Given the description of an element on the screen output the (x, y) to click on. 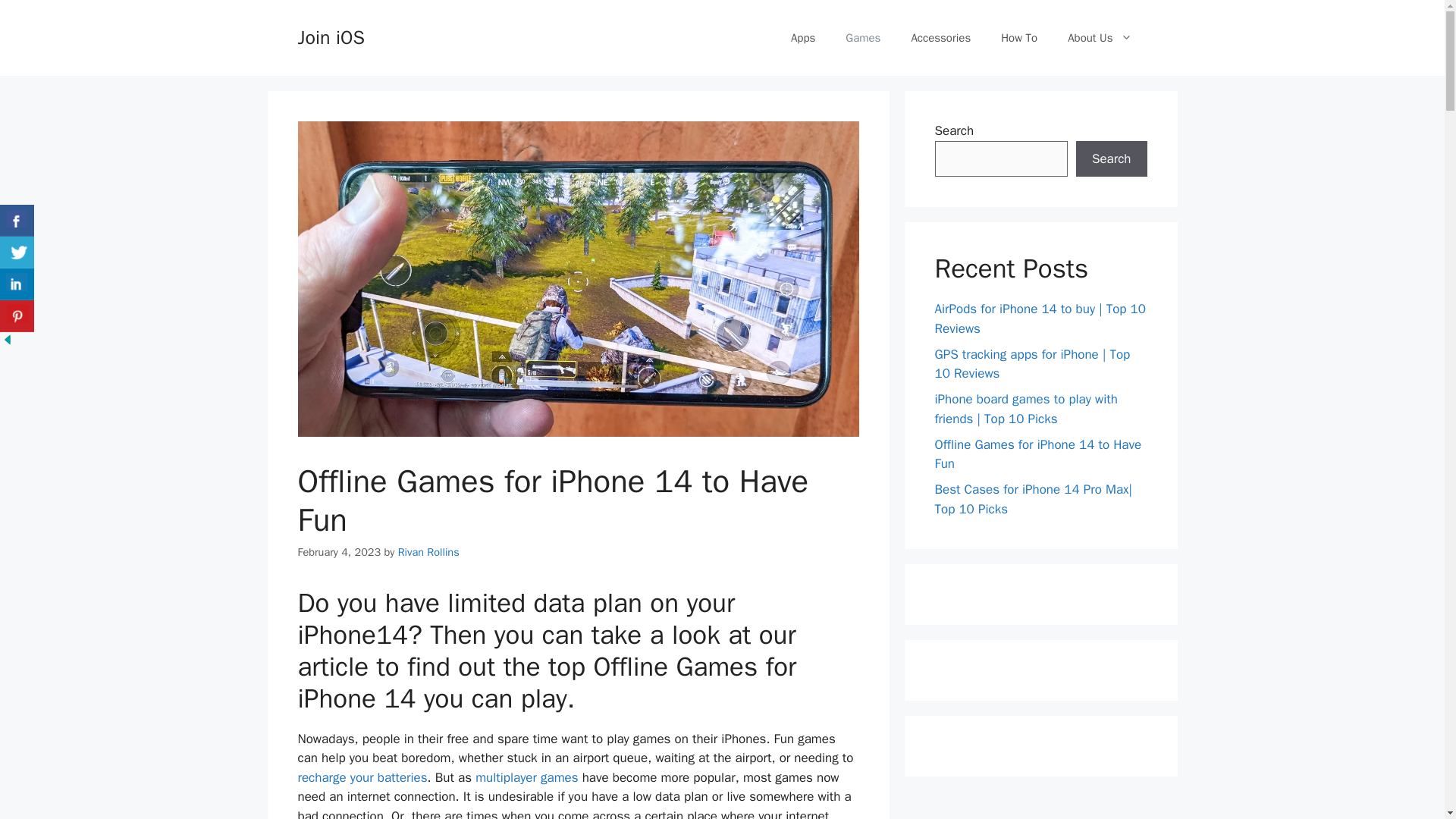
Apps (802, 37)
Rivan Rollins (428, 551)
About Us (1099, 37)
multiplayer games (527, 777)
Share On Twitter (16, 252)
Games (862, 37)
recharge your batteries (361, 777)
How To (1018, 37)
View all posts by Rivan Rollins (428, 551)
Share On Pinterest (16, 316)
Accessories (940, 37)
Share On Linkedin (16, 284)
Join iOS (330, 37)
Hide Buttons (7, 342)
Share On Facebook (16, 220)
